Given the description of an element on the screen output the (x, y) to click on. 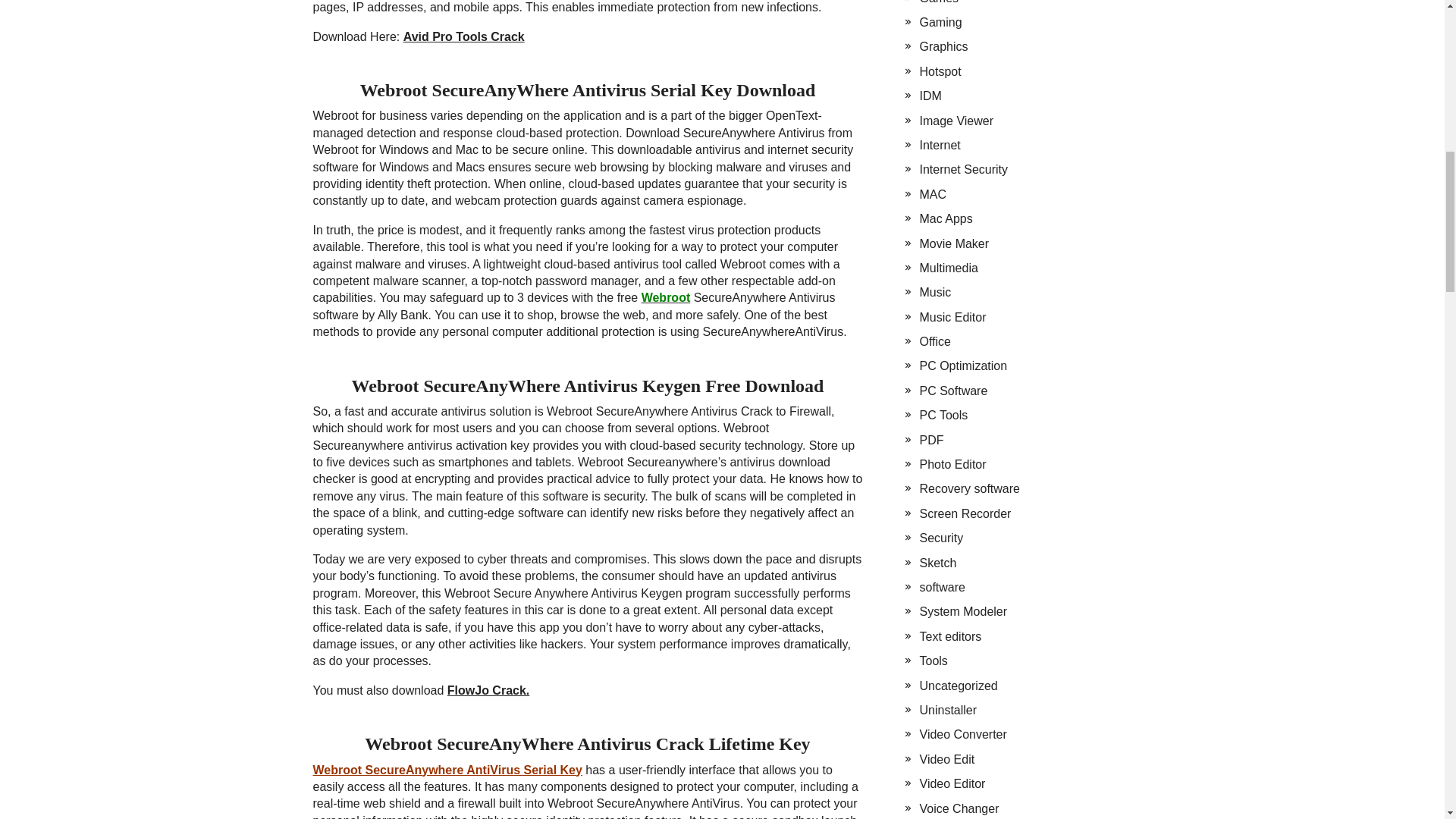
Webroot SecureAnywhere AntiVirus Serial Key (446, 769)
FlowJo Crack. (487, 689)
Webroot (666, 297)
Avid Pro Tools Crack (463, 36)
